Given the description of an element on the screen output the (x, y) to click on. 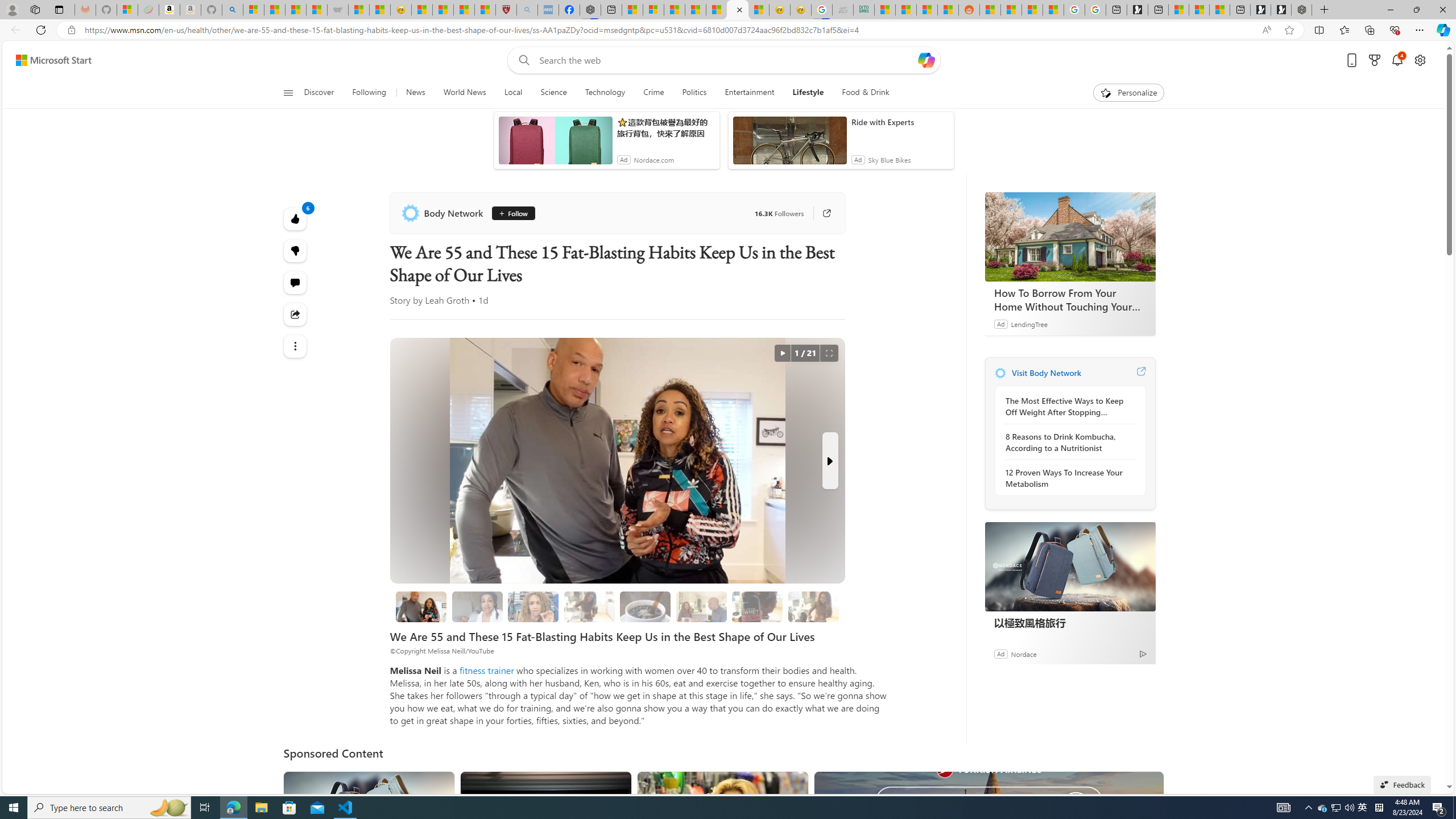
Sky Blue Bikes (888, 159)
Enter your search term (726, 59)
6 Since Eating More Protein Her Training Has Improved (756, 606)
